Given the description of an element on the screen output the (x, y) to click on. 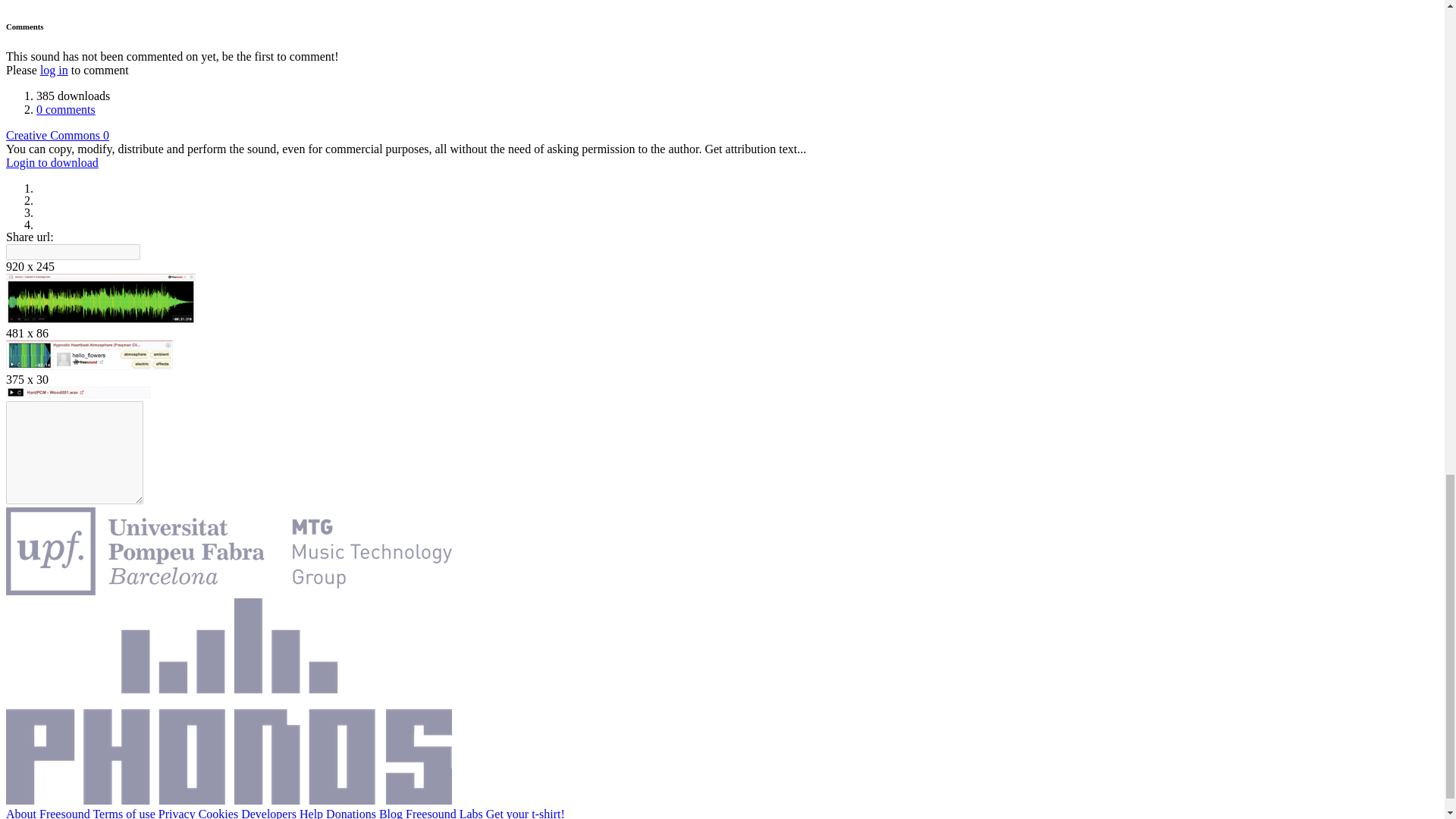
0 comments (66, 109)
Go to the full license text (57, 134)
log in (54, 69)
This sound has been downloaded 385 times (73, 95)
385 downloads (73, 95)
This sound has received 0 comments (66, 109)
Creative Commons 0 (57, 134)
